Given the description of an element on the screen output the (x, y) to click on. 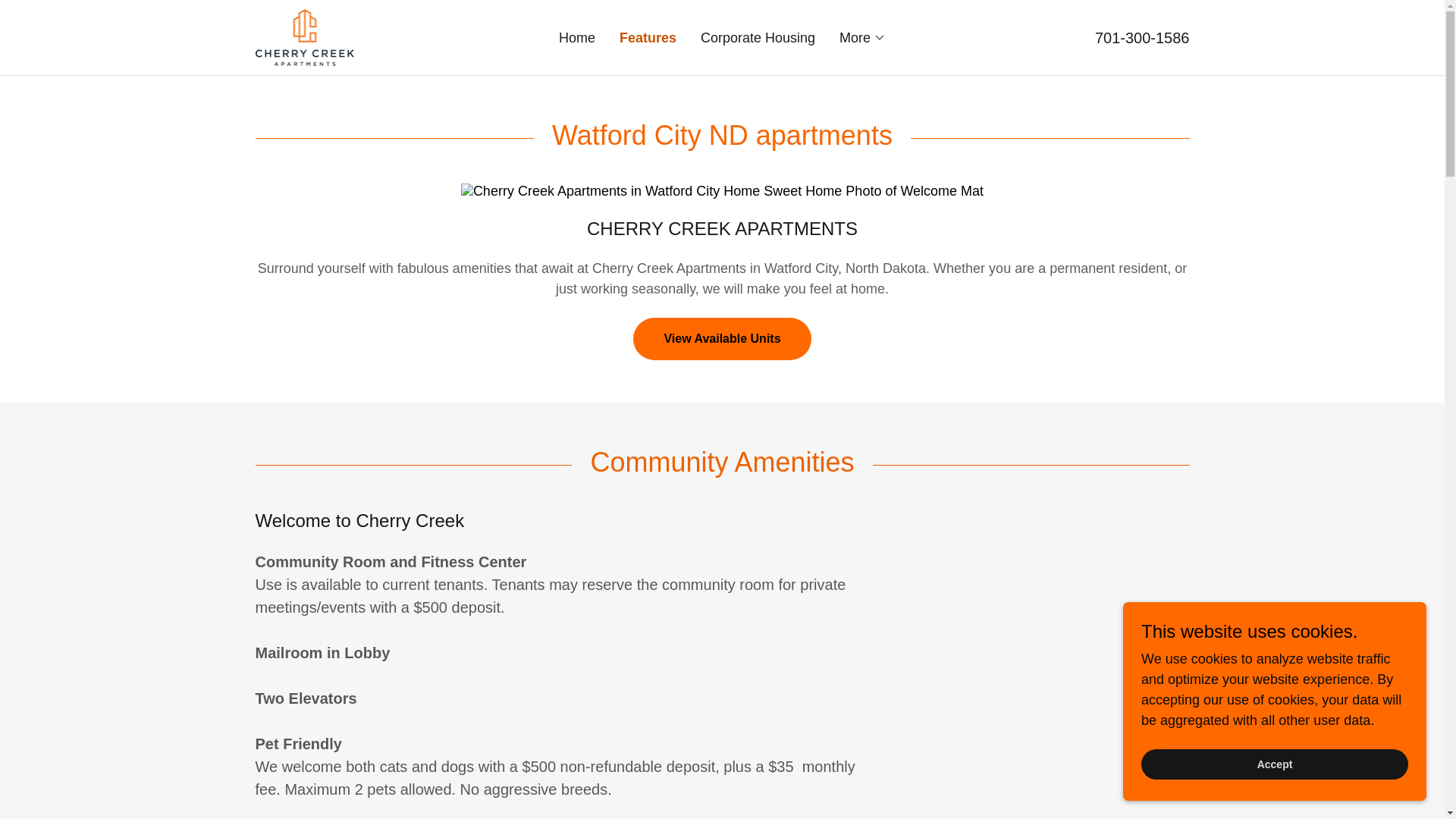
View Available Units (721, 338)
Home (576, 37)
Accept (1274, 764)
Features (648, 37)
More (862, 37)
Cherry Creek Apartments (303, 36)
Corporate Housing (757, 37)
701-300-1586 (1141, 36)
